Given the description of an element on the screen output the (x, y) to click on. 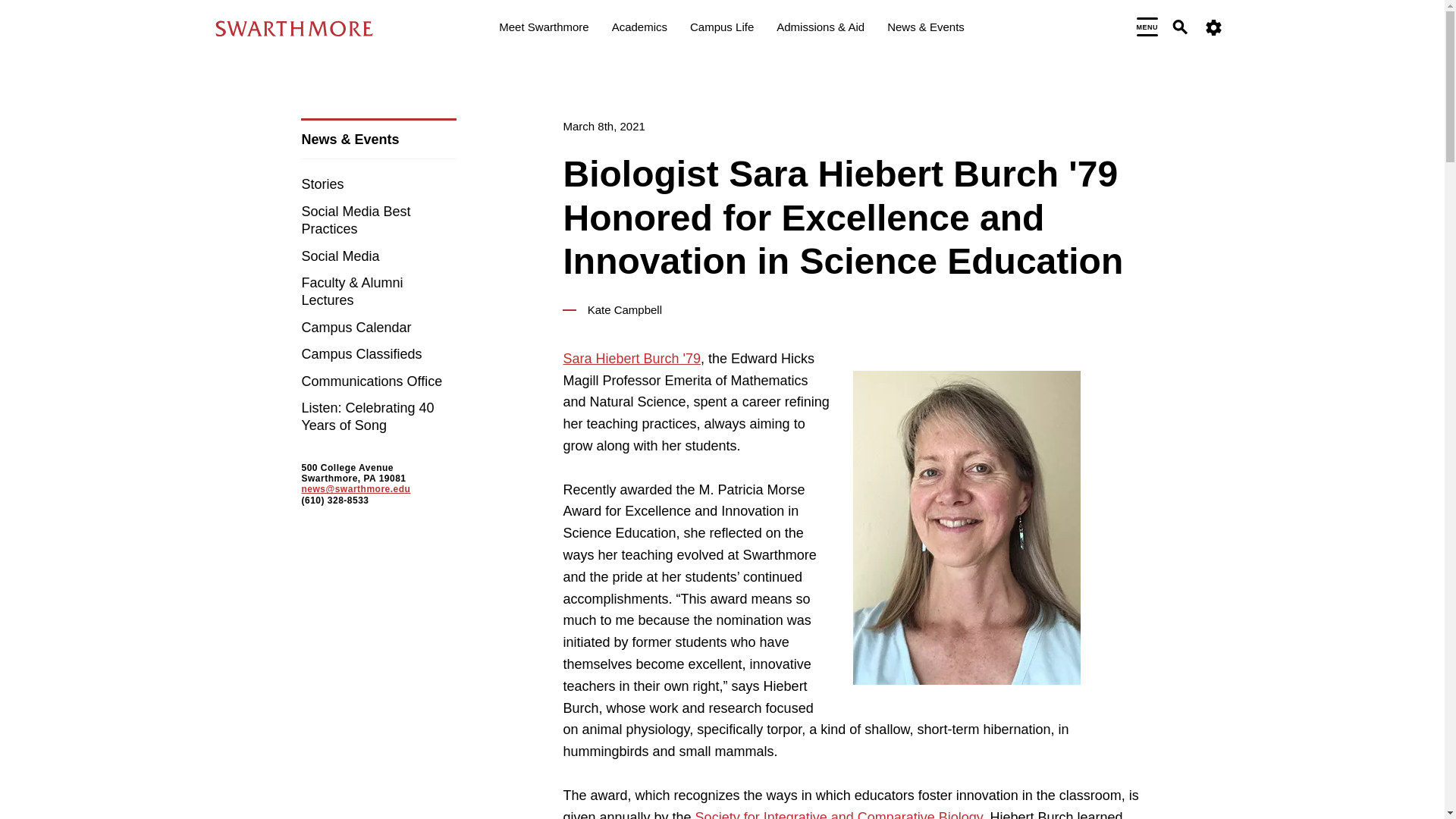
Campus Life (722, 28)
Academics (638, 28)
send an email to news at swarthmore.edu (355, 489)
Meet Swarthmore (543, 28)
